Given the description of an element on the screen output the (x, y) to click on. 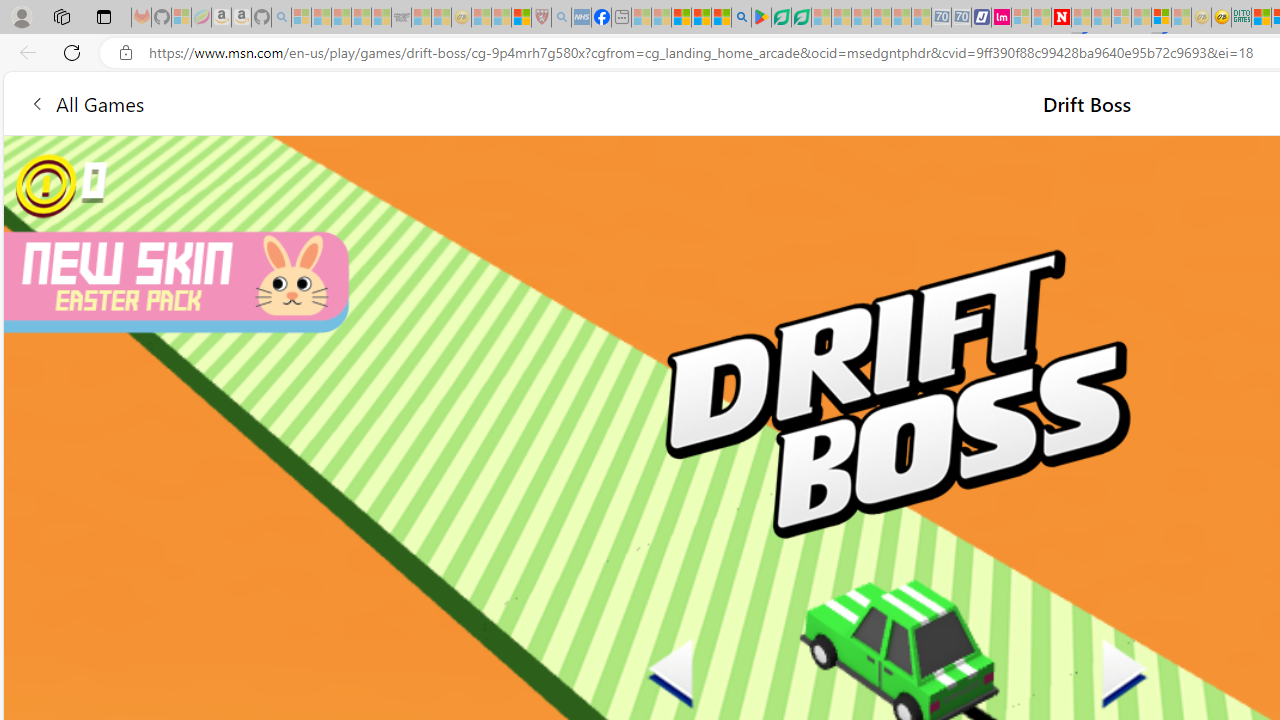
Terms of Use Agreement (781, 17)
Jobs - lastminute.com Investor Portal (1001, 17)
Bluey: Let's Play! - Apps on Google Play (760, 17)
Pets - MSN (701, 17)
Microsoft Word - consumer-privacy address update 2.2021 (801, 17)
MSNBC - MSN (1261, 17)
MSNBC - MSN - Sleeping (641, 17)
NCL Adult Asthma Inhaler Choice Guideline - Sleeping (581, 17)
